Given the description of an element on the screen output the (x, y) to click on. 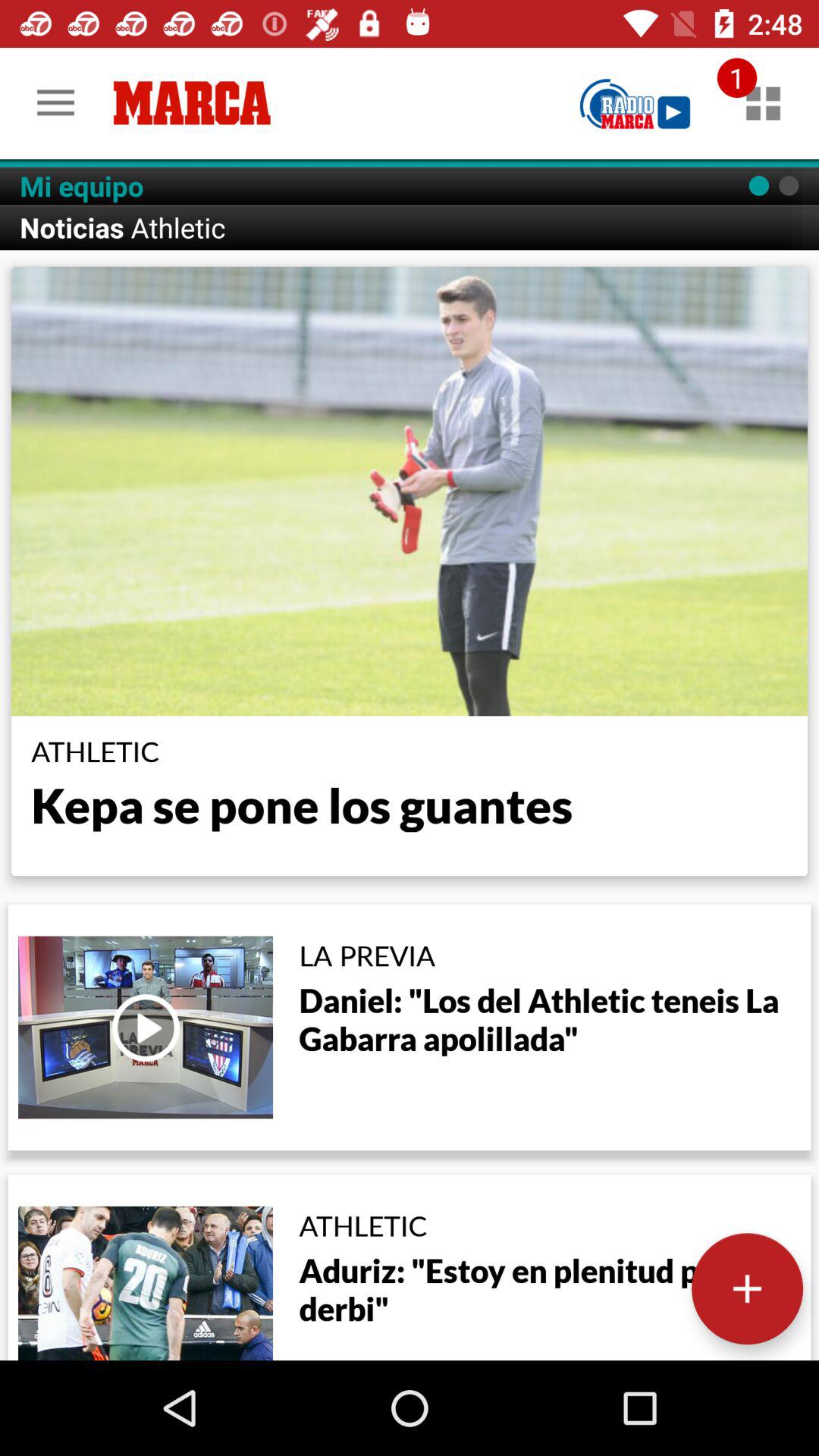
select the image which is beside the aduriz estoy en plenitud pderbi (145, 1283)
click on the video which is left to the text la previa (145, 1027)
click on radio marca which is on the right side of marca (635, 103)
